Given the description of an element on the screen output the (x, y) to click on. 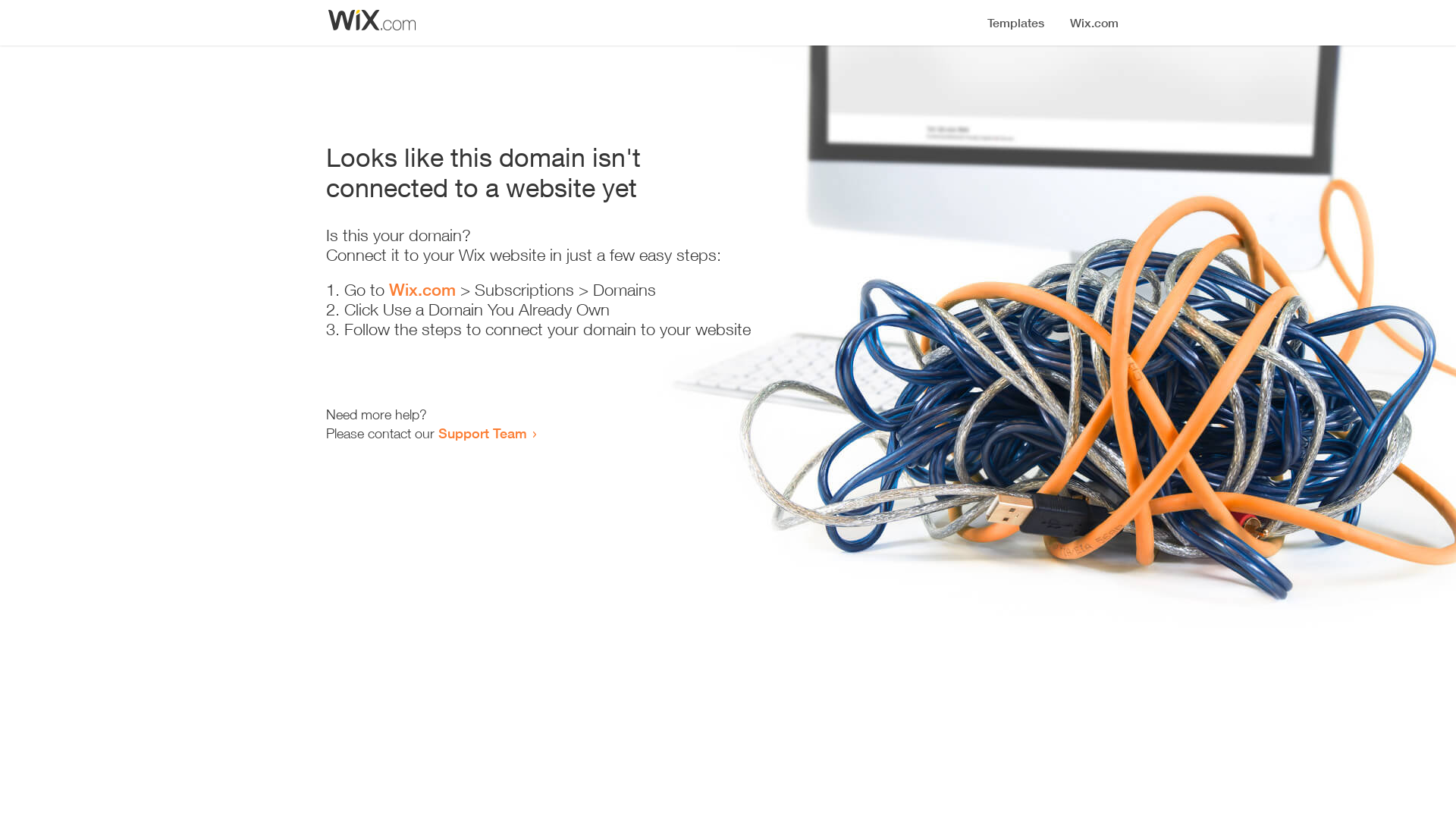
Support Team Element type: text (482, 432)
Wix.com Element type: text (422, 289)
